Given the description of an element on the screen output the (x, y) to click on. 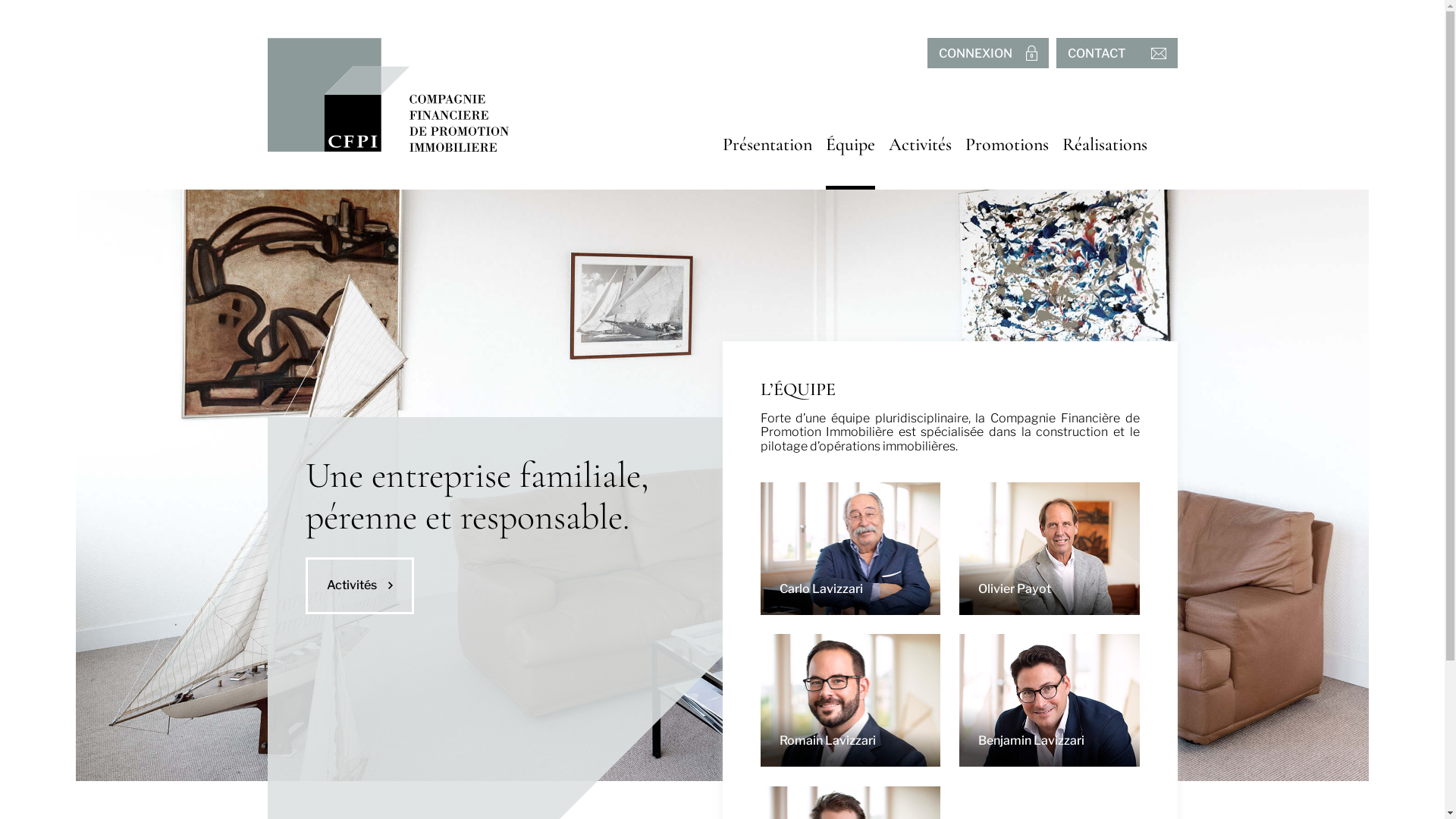
Olivier Payot Element type: text (1049, 548)
Romain Lavizzari Element type: text (849, 699)
Promotions Element type: text (1006, 144)
Carlo Lavizzari Element type: text (849, 548)
CONTACT Element type: text (1115, 52)
CONNEXION Element type: text (987, 52)
Benjamin Lavizzari Element type: text (1049, 699)
